Given the description of an element on the screen output the (x, y) to click on. 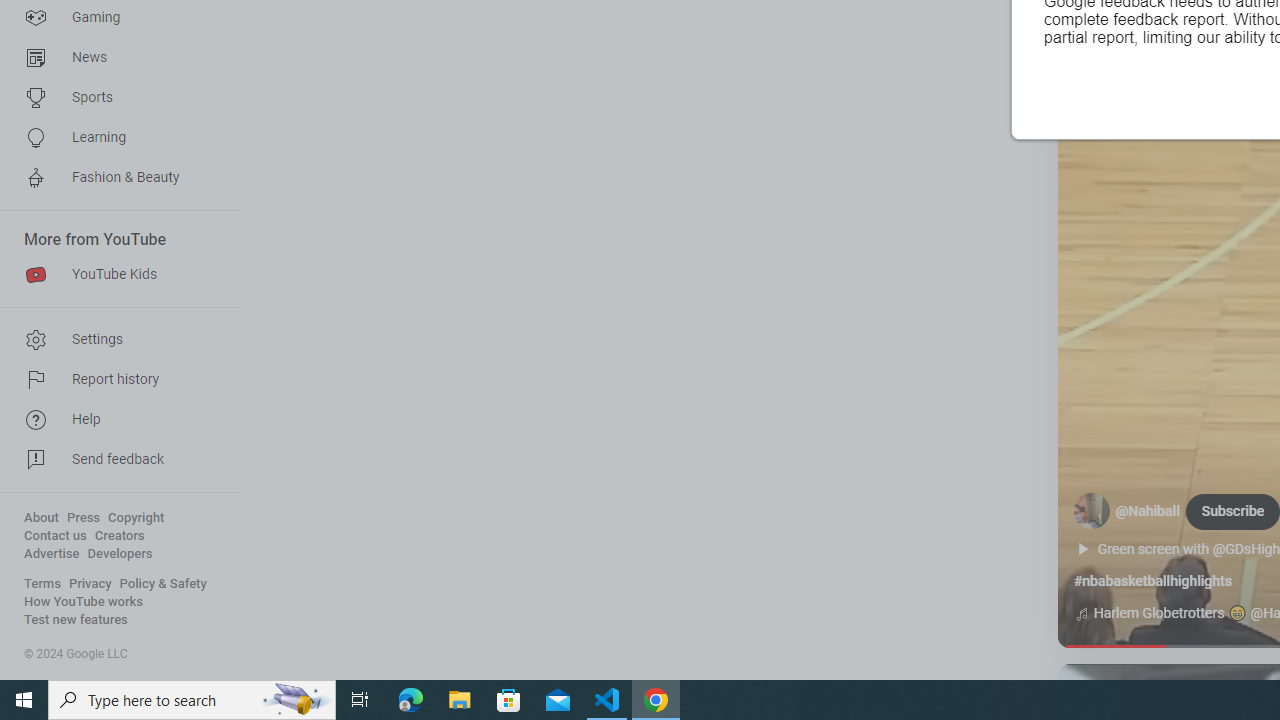
Advertise (51, 554)
music icon (1081, 614)
Contact us (55, 536)
Fashion & Beauty (113, 177)
YouTube Kids (113, 274)
Learning (113, 137)
Sports (113, 97)
How YouTube works (83, 602)
Test new features (76, 620)
About (41, 518)
Creators (118, 536)
News (113, 57)
Copyright (136, 518)
